Given the description of an element on the screen output the (x, y) to click on. 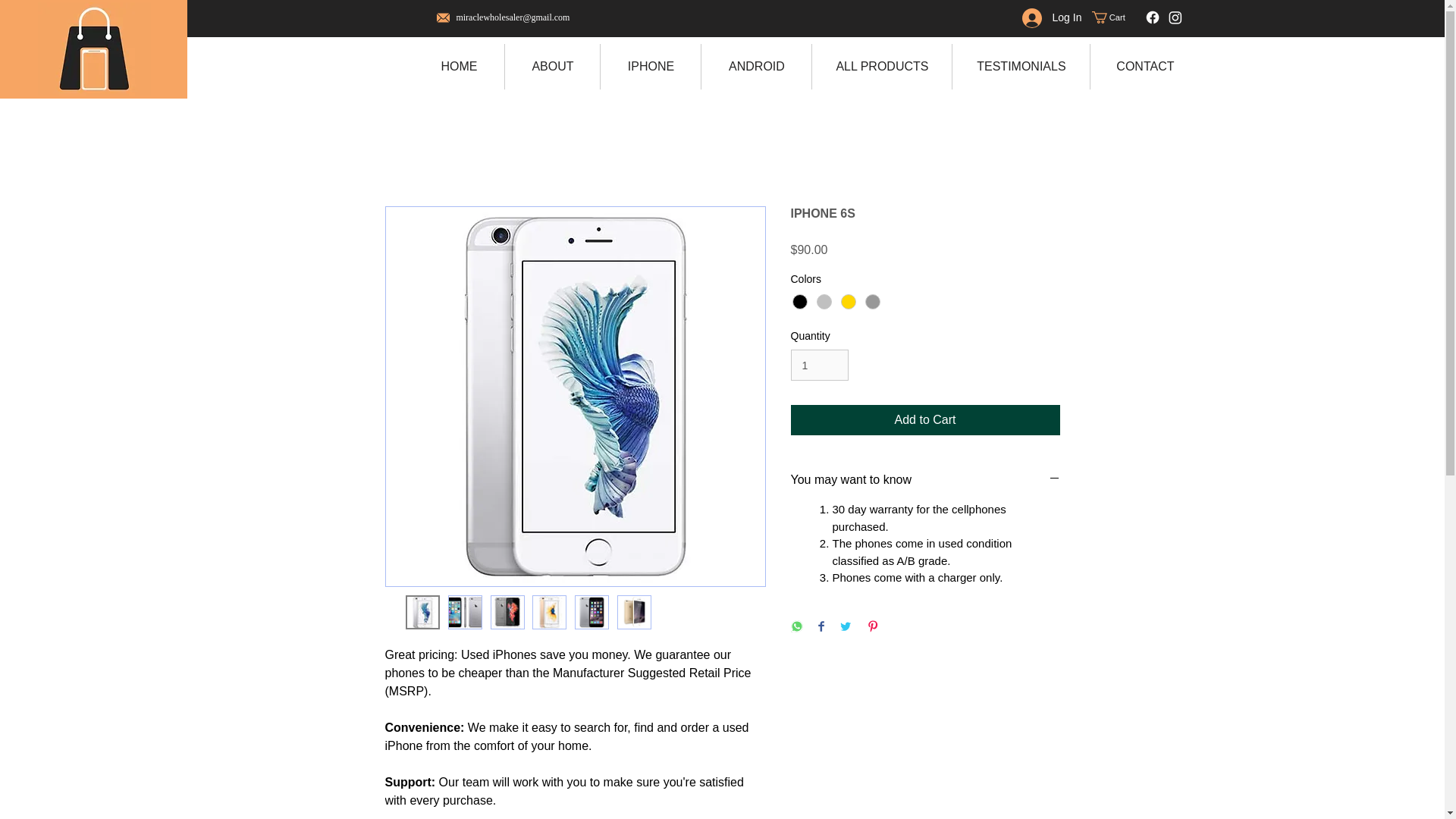
Add to Cart (924, 419)
Cart (1115, 17)
ABOUT (551, 66)
Log In (1052, 18)
CONTACT (1144, 66)
HOME (458, 66)
IPHONE (649, 66)
1 (818, 364)
TESTIMONIALS (1020, 66)
ANDROID (755, 66)
